Given the description of an element on the screen output the (x, y) to click on. 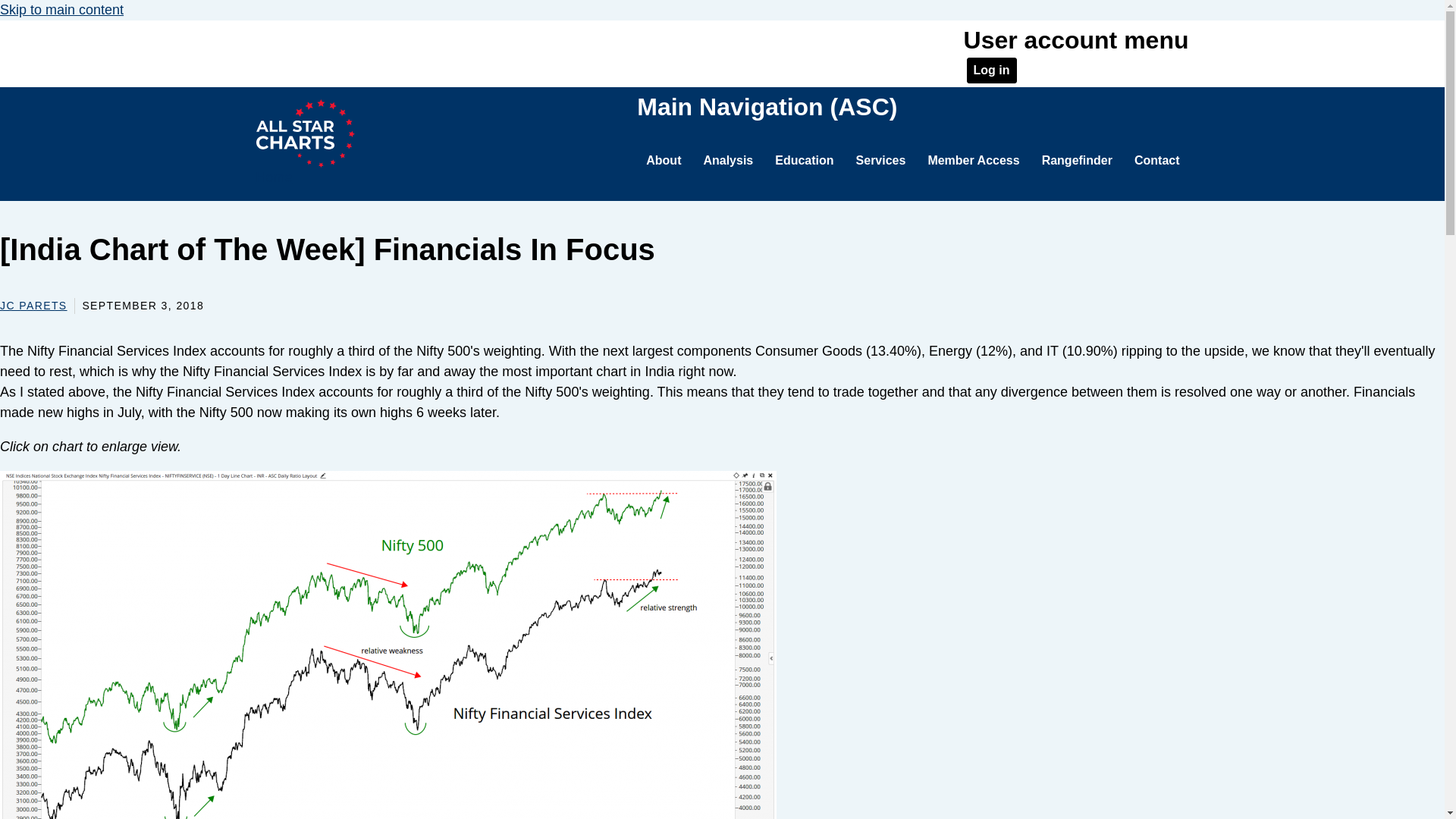
Contact (1157, 160)
Home (305, 143)
JC PARETS (33, 305)
Education (804, 160)
Log in (991, 70)
Services (881, 160)
Member Access (972, 160)
About (663, 160)
Skip to main content (61, 9)
Analysis (727, 160)
